Given the description of an element on the screen output the (x, y) to click on. 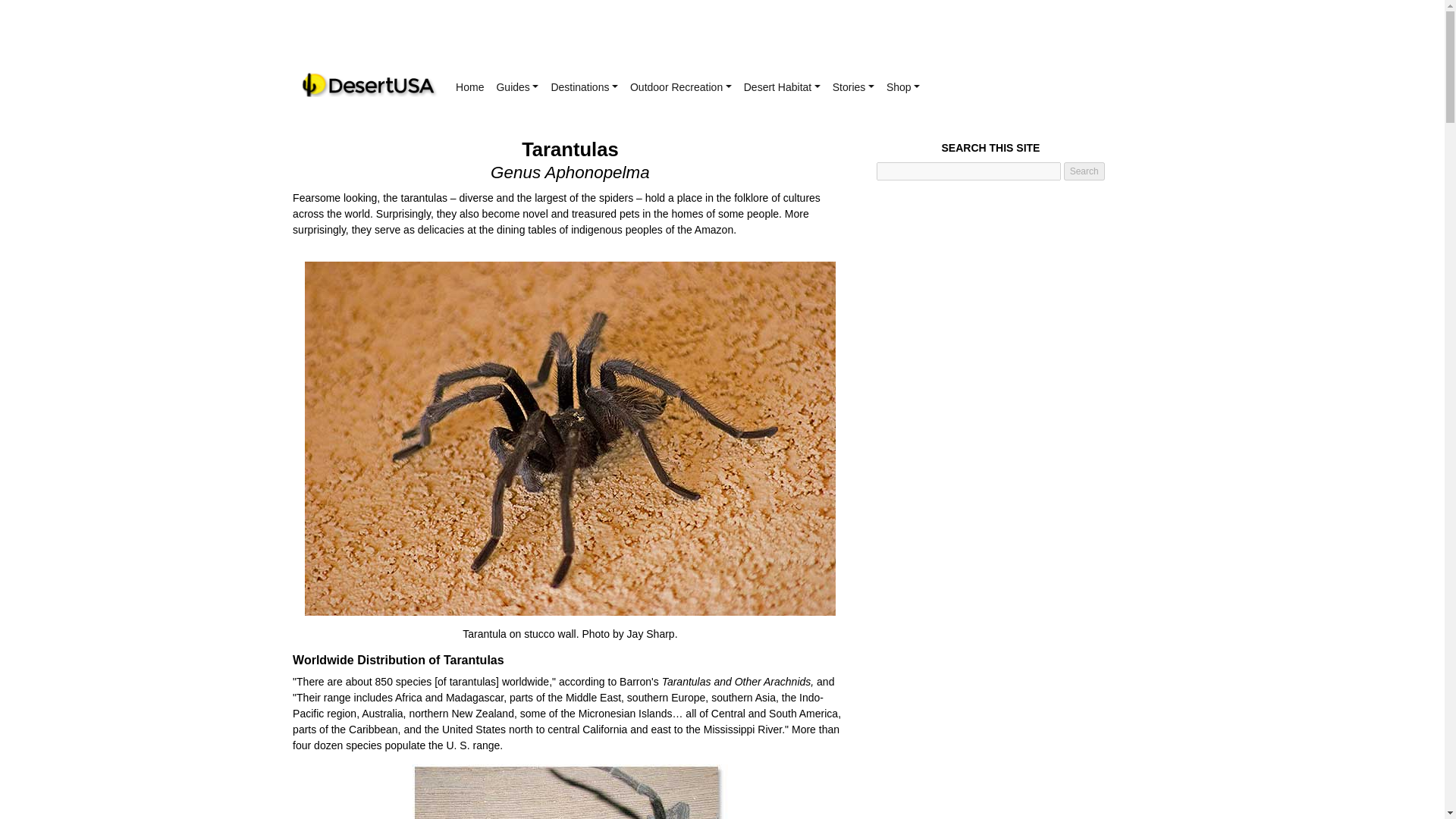
Guides (516, 87)
Destinations (584, 87)
Desert Habitat (782, 87)
Outdoor Recreation (681, 87)
Home (469, 87)
Search (1084, 171)
